Given the description of an element on the screen output the (x, y) to click on. 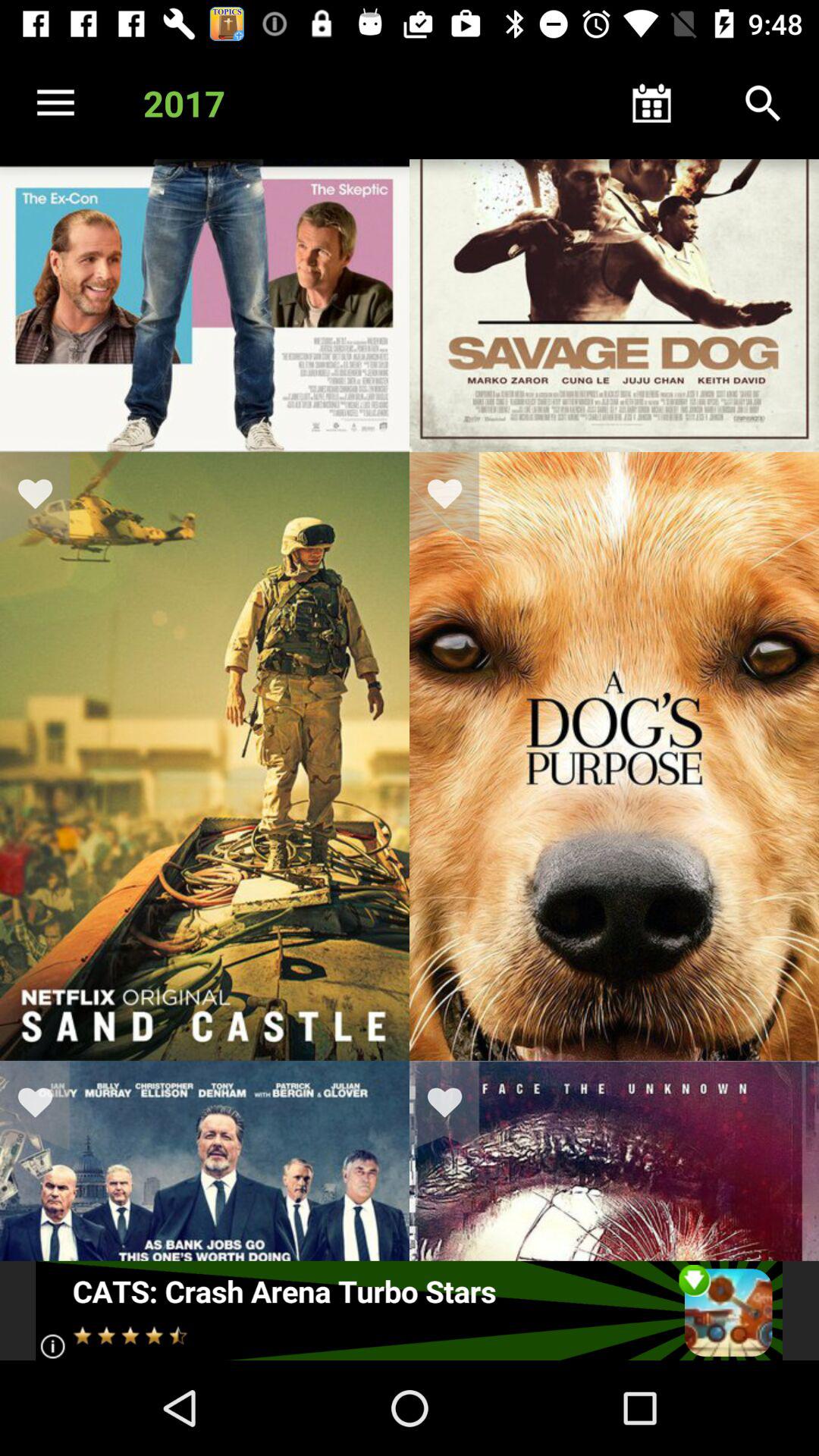
add to favorite (44, 497)
